Given the description of an element on the screen output the (x, y) to click on. 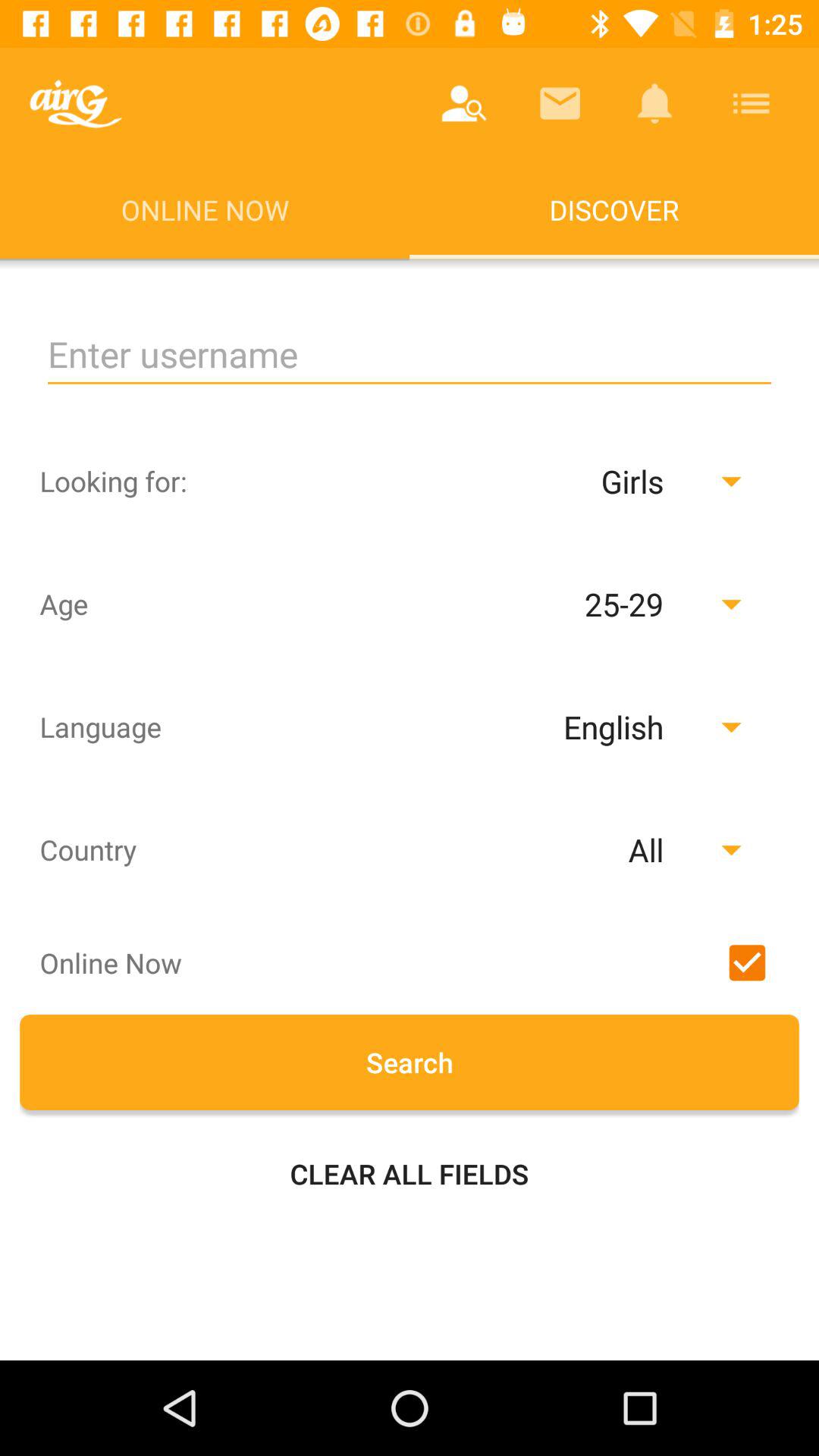
select discover item (614, 209)
